Given the description of an element on the screen output the (x, y) to click on. 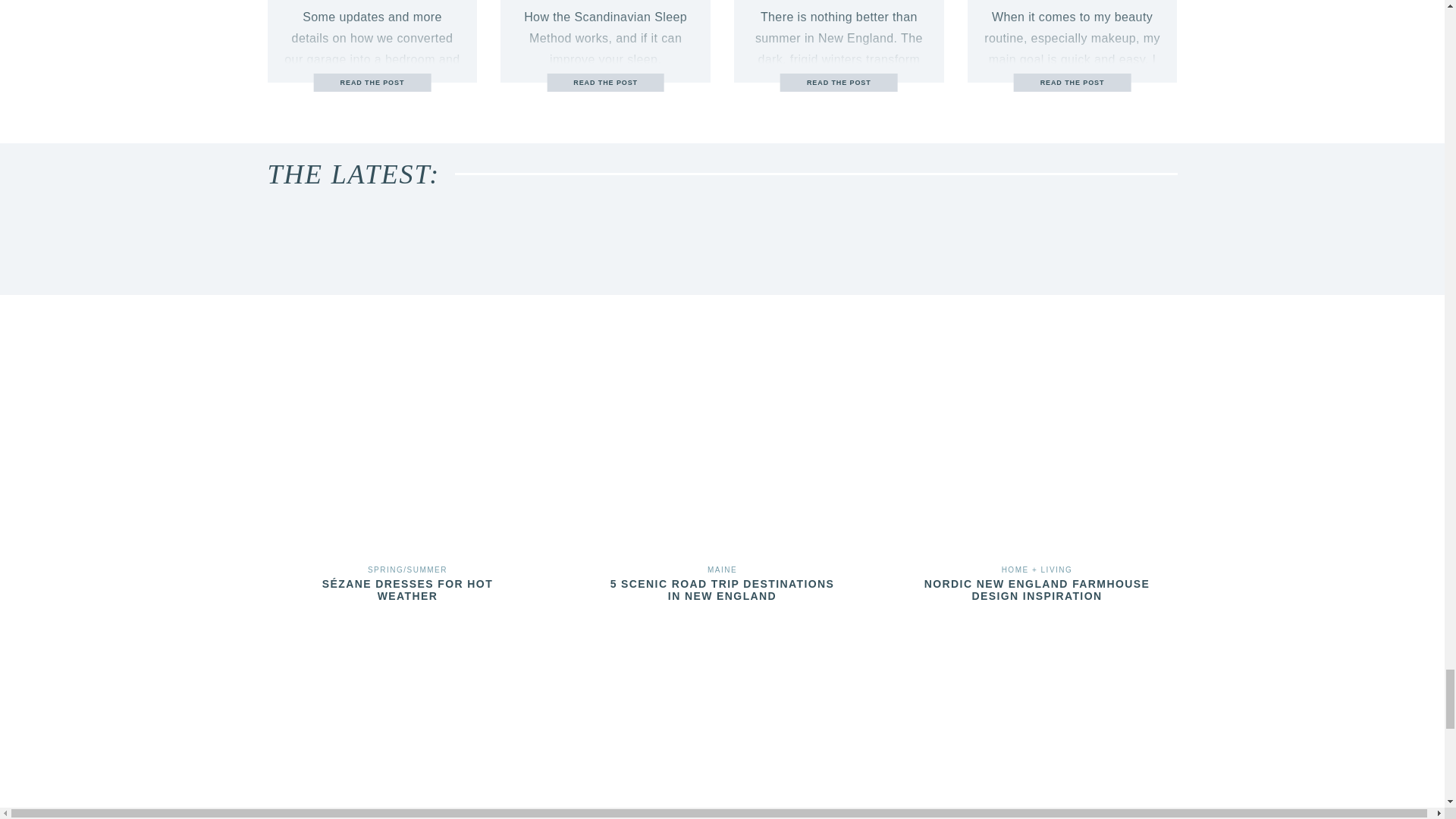
View all posts in Maine (721, 569)
